Given the description of an element on the screen output the (x, y) to click on. 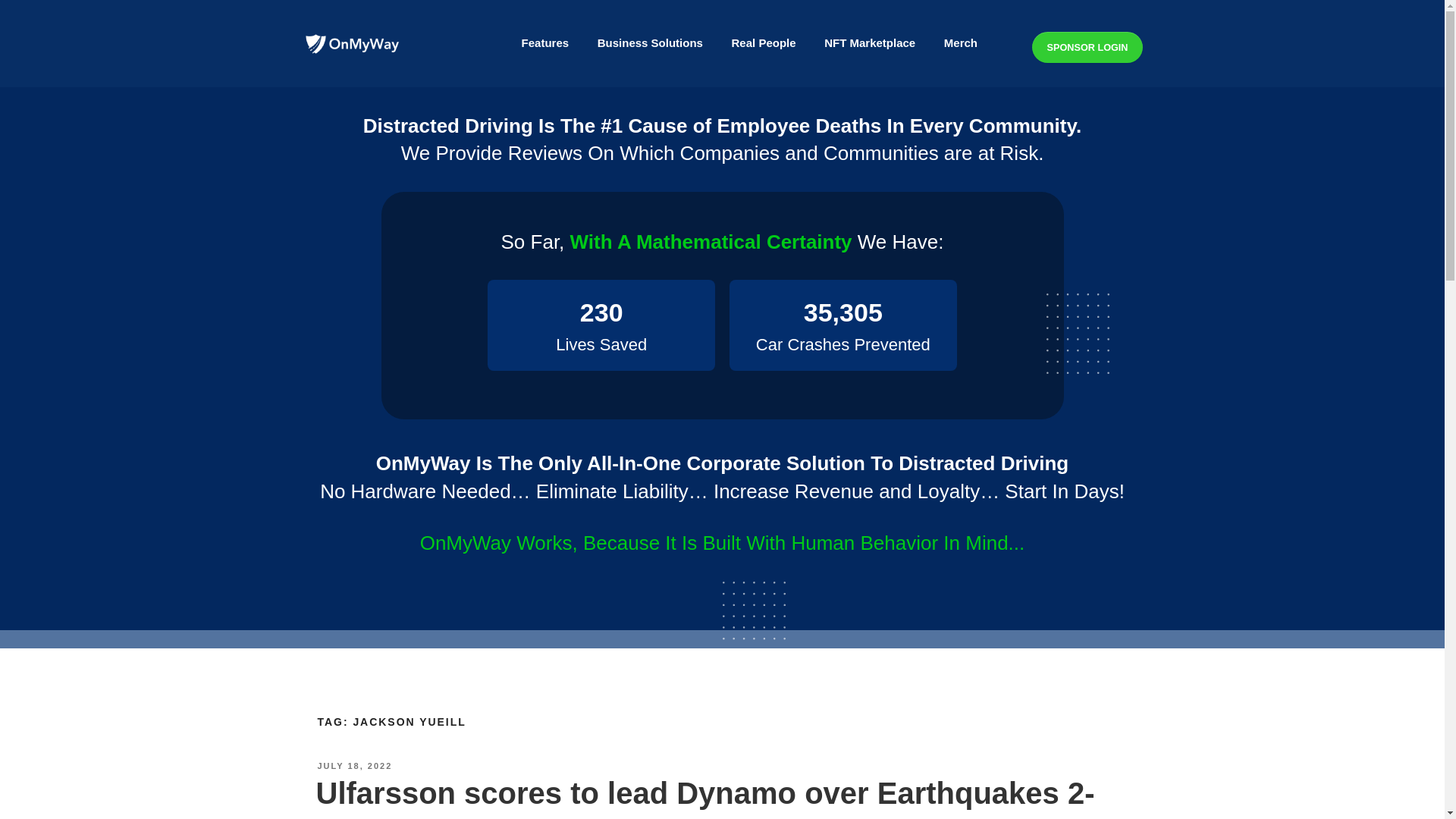
JULY 18, 2022 (354, 765)
